Given the description of an element on the screen output the (x, y) to click on. 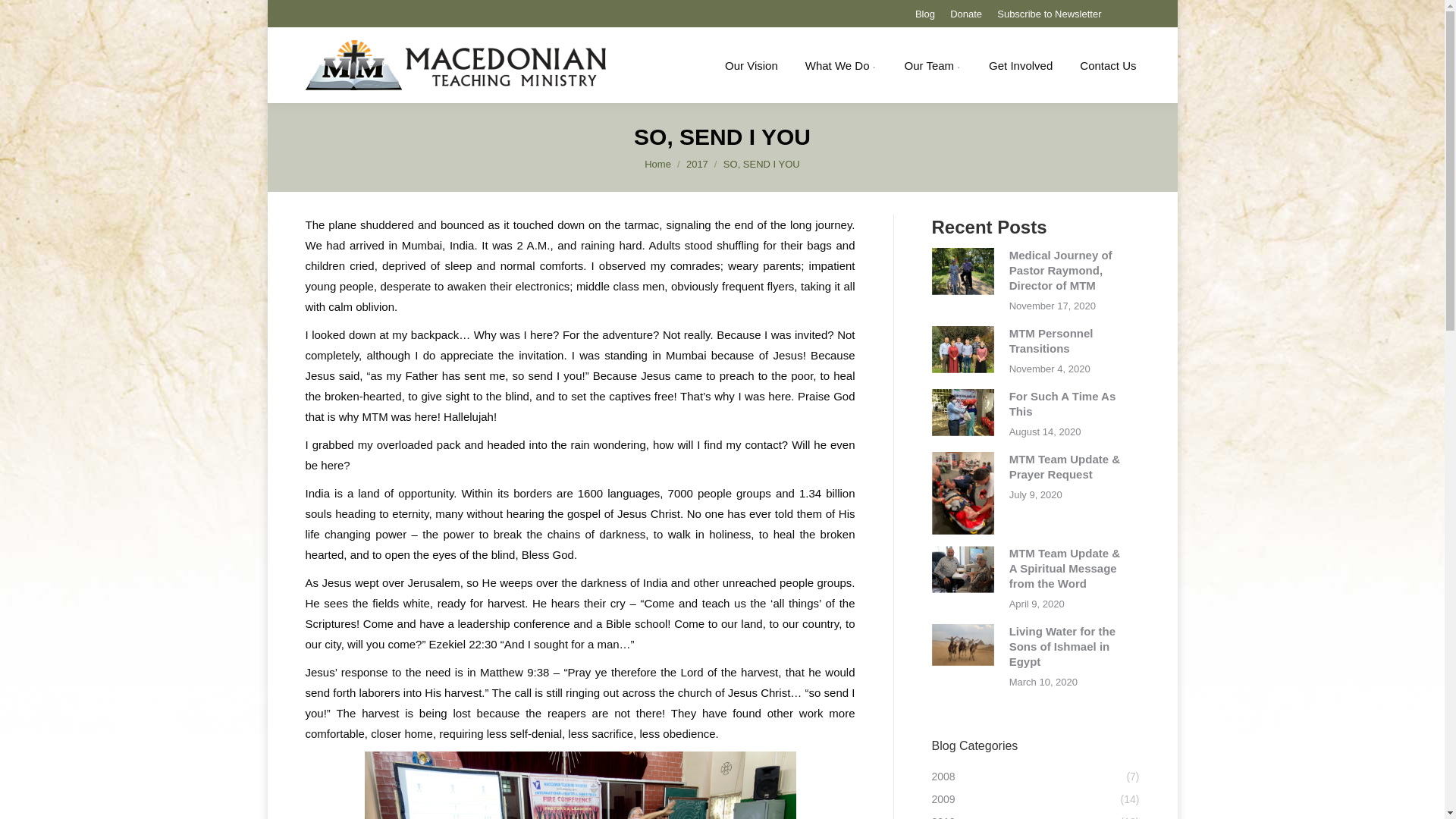
Subscribe to Newsletter (1048, 12)
Our Vision (751, 64)
Contact Us (1107, 64)
Home (658, 163)
2017 (696, 163)
Blog (924, 12)
5:44 pm (1052, 305)
For Such A Time As This (1062, 403)
11:28 am (1045, 431)
Medical Journey of Pastor Raymond, Director of MTM (1060, 269)
